Given the description of an element on the screen output the (x, y) to click on. 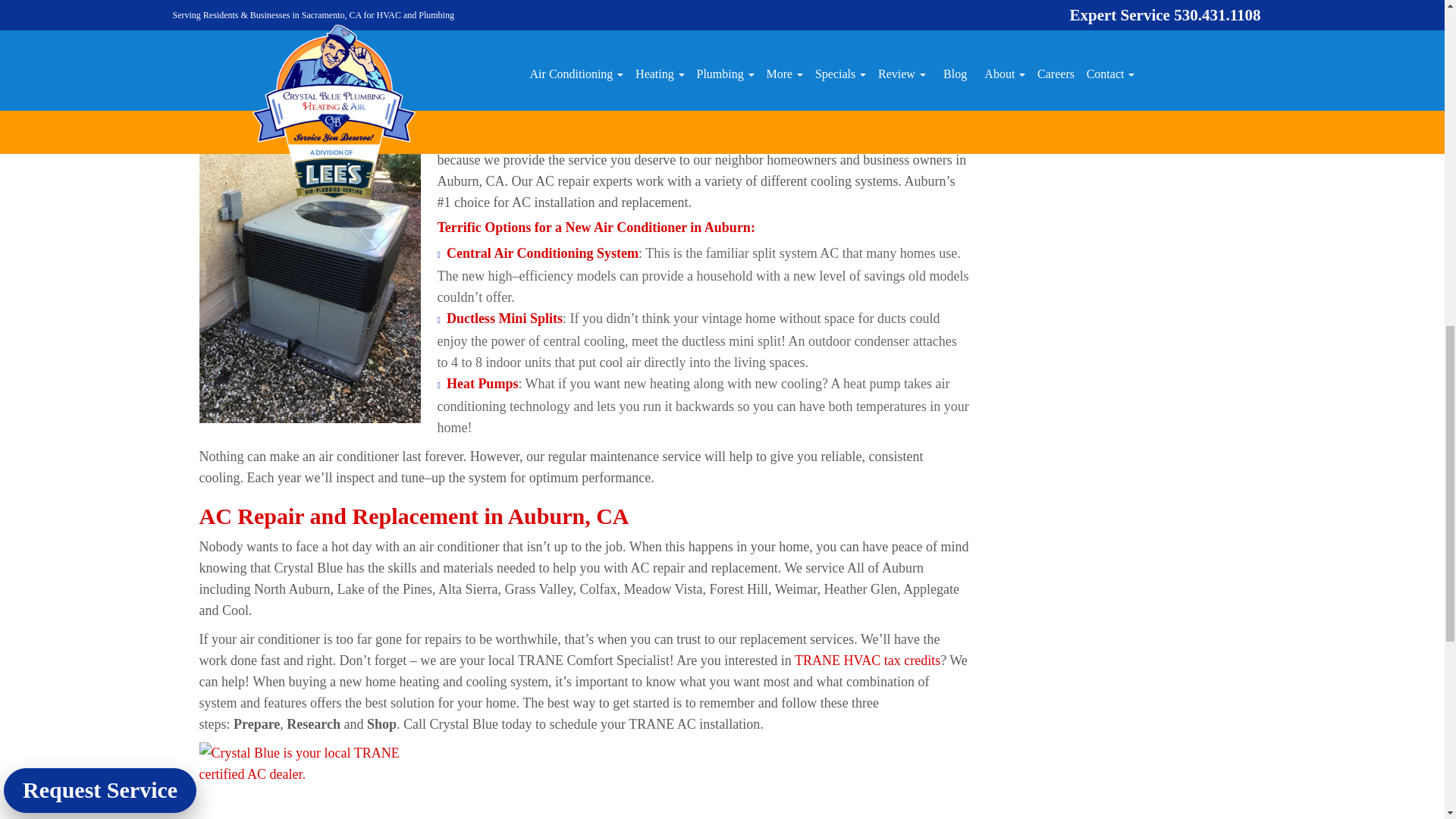
Submit (1133, 63)
